Given the description of an element on the screen output the (x, y) to click on. 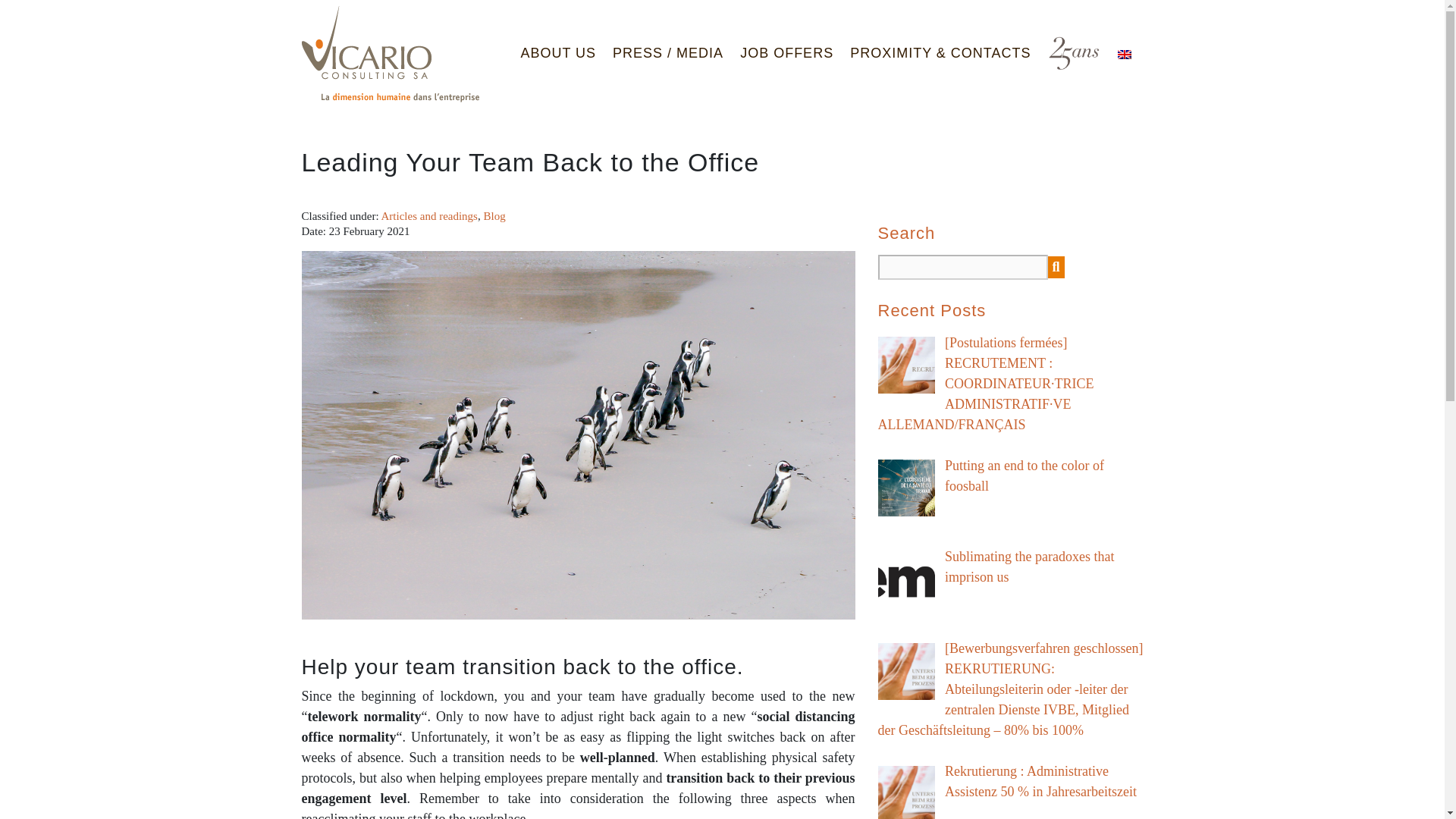
JOB OFFERS (786, 52)
Sublimating the paradoxes that imprison us (1028, 566)
ABOUT US (558, 52)
Articles and readings (428, 215)
Putting an end to the color of foosball (1023, 475)
Blog (494, 215)
